Given the description of an element on the screen output the (x, y) to click on. 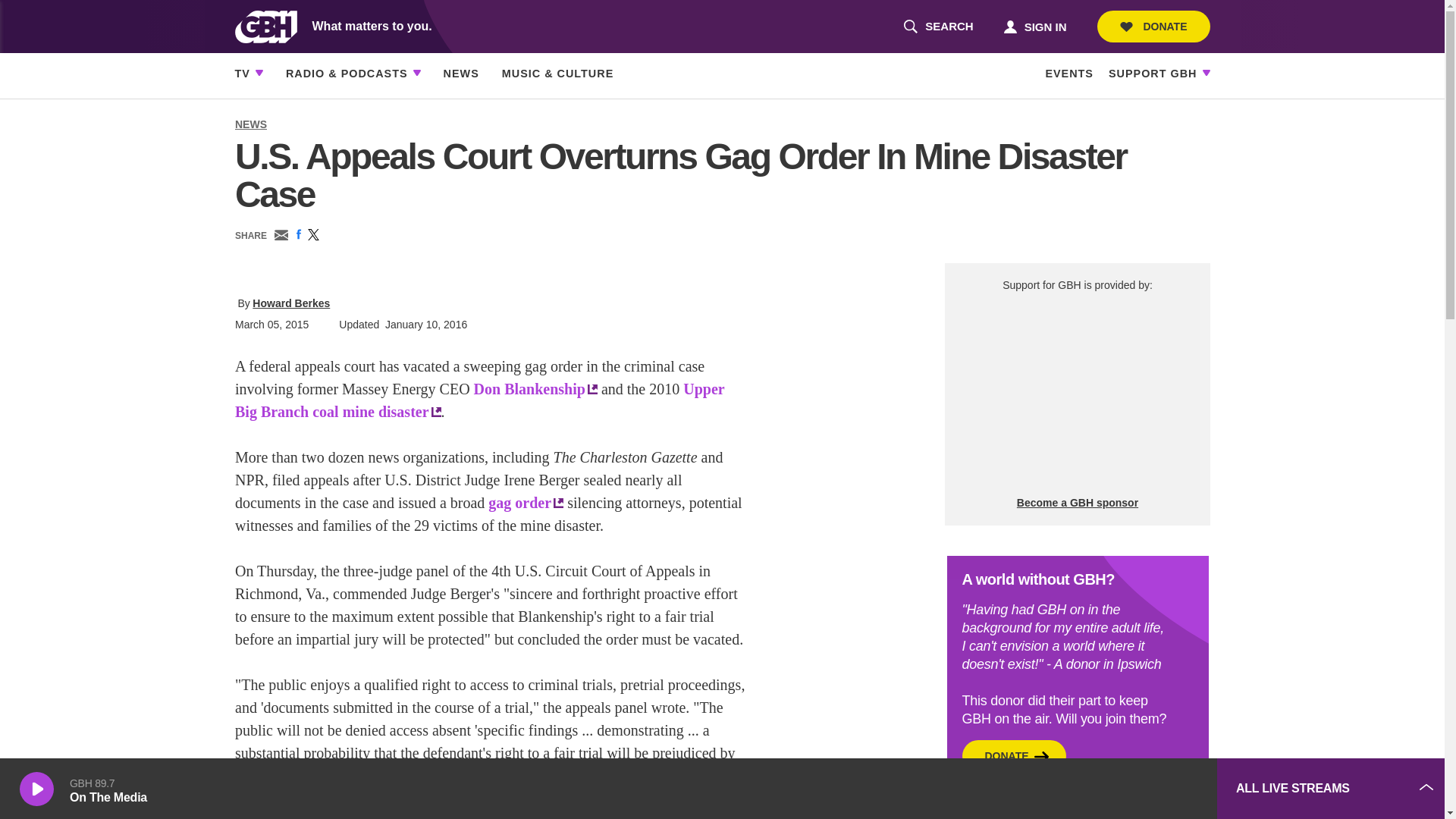
DONATE (937, 26)
3rd party ad content (1153, 26)
3rd party ad content (1076, 393)
SIGN IN (1091, 788)
